Given the description of an element on the screen output the (x, y) to click on. 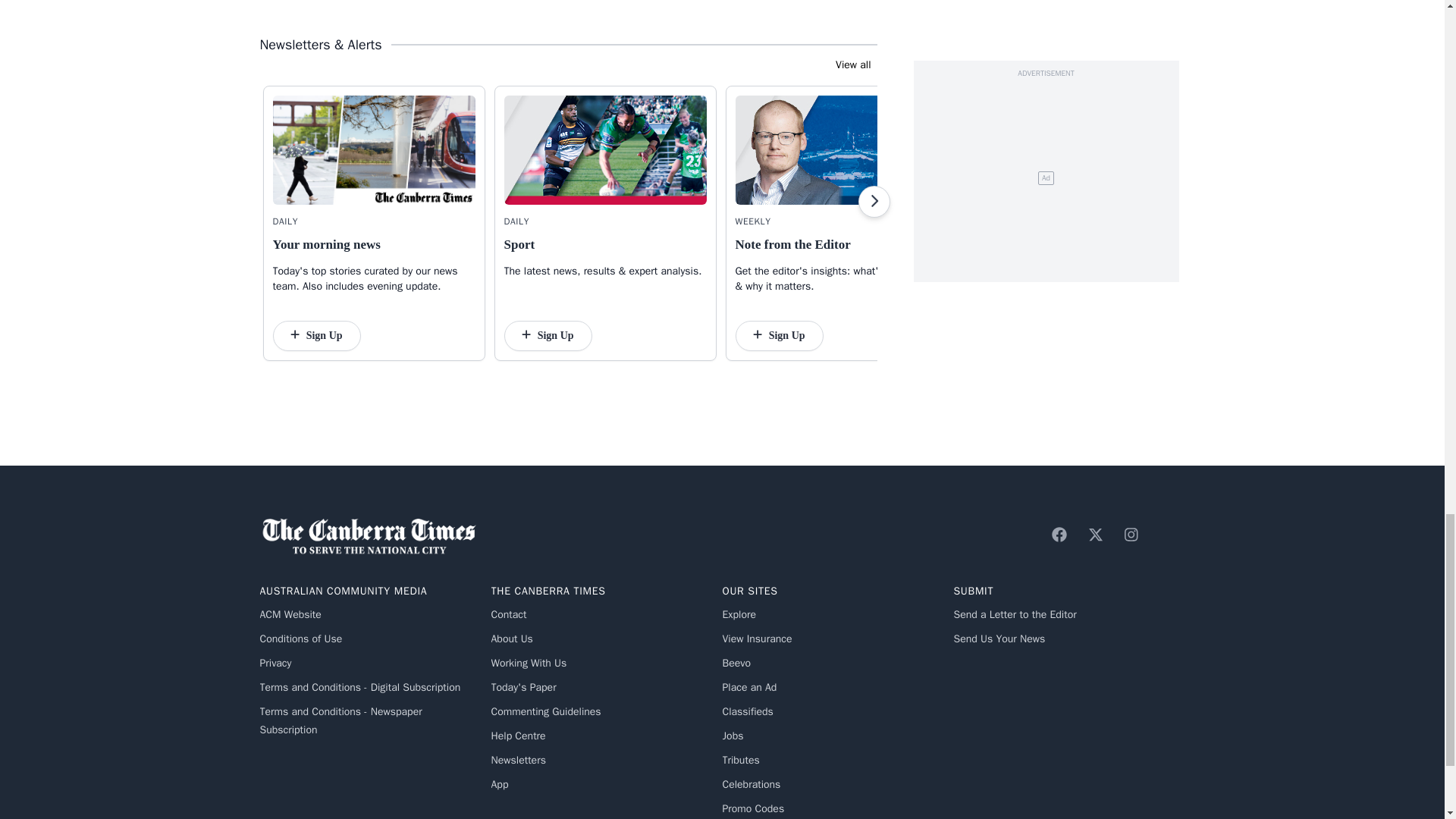
Your morning news Newsletter (374, 149)
Note from the Editor Newsletter (836, 149)
Sport Newsletter (604, 149)
